Given the description of an element on the screen output the (x, y) to click on. 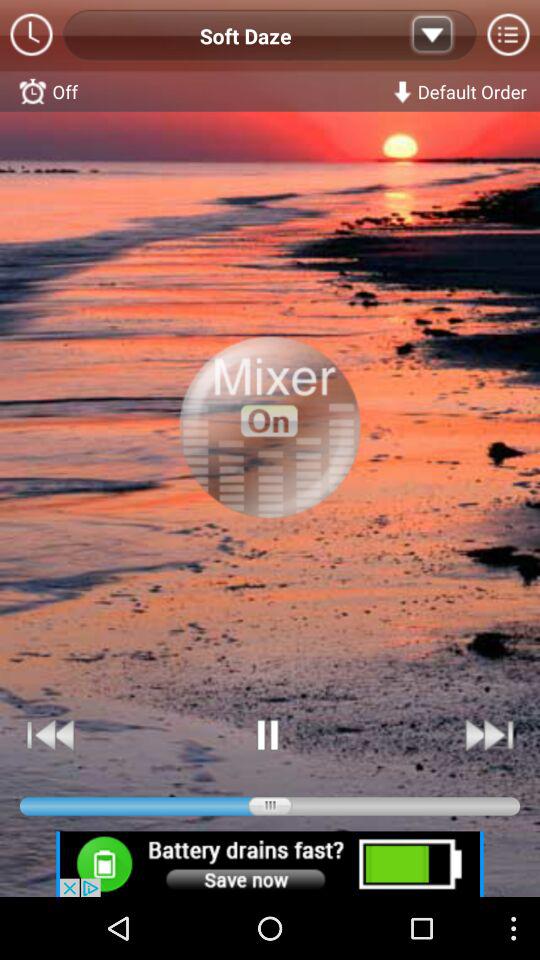
open menu (508, 35)
